Given the description of an element on the screen output the (x, y) to click on. 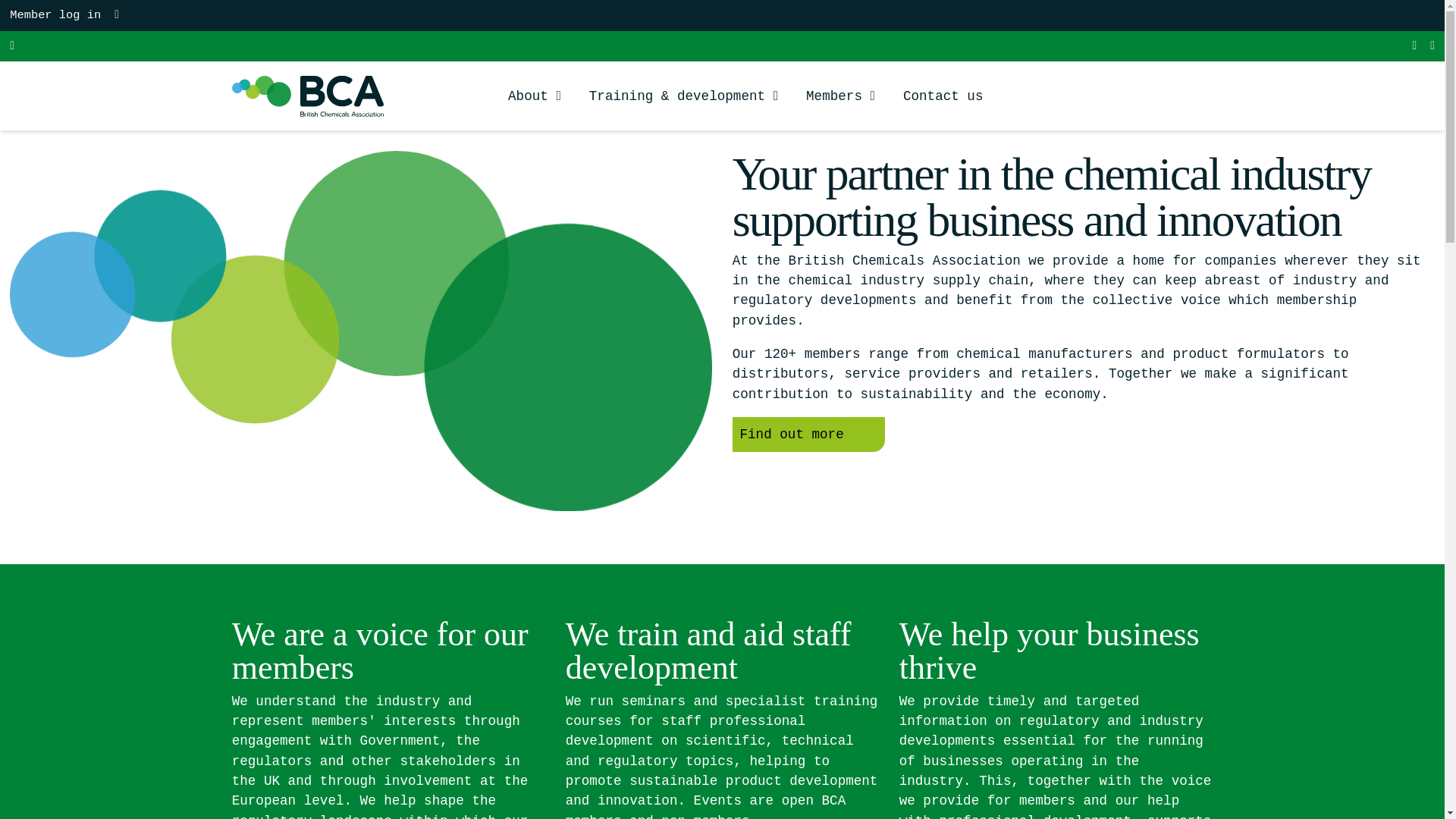
About (534, 108)
Find out more (808, 434)
Members (840, 108)
Member log in (55, 15)
Contact us (943, 96)
